Given the description of an element on the screen output the (x, y) to click on. 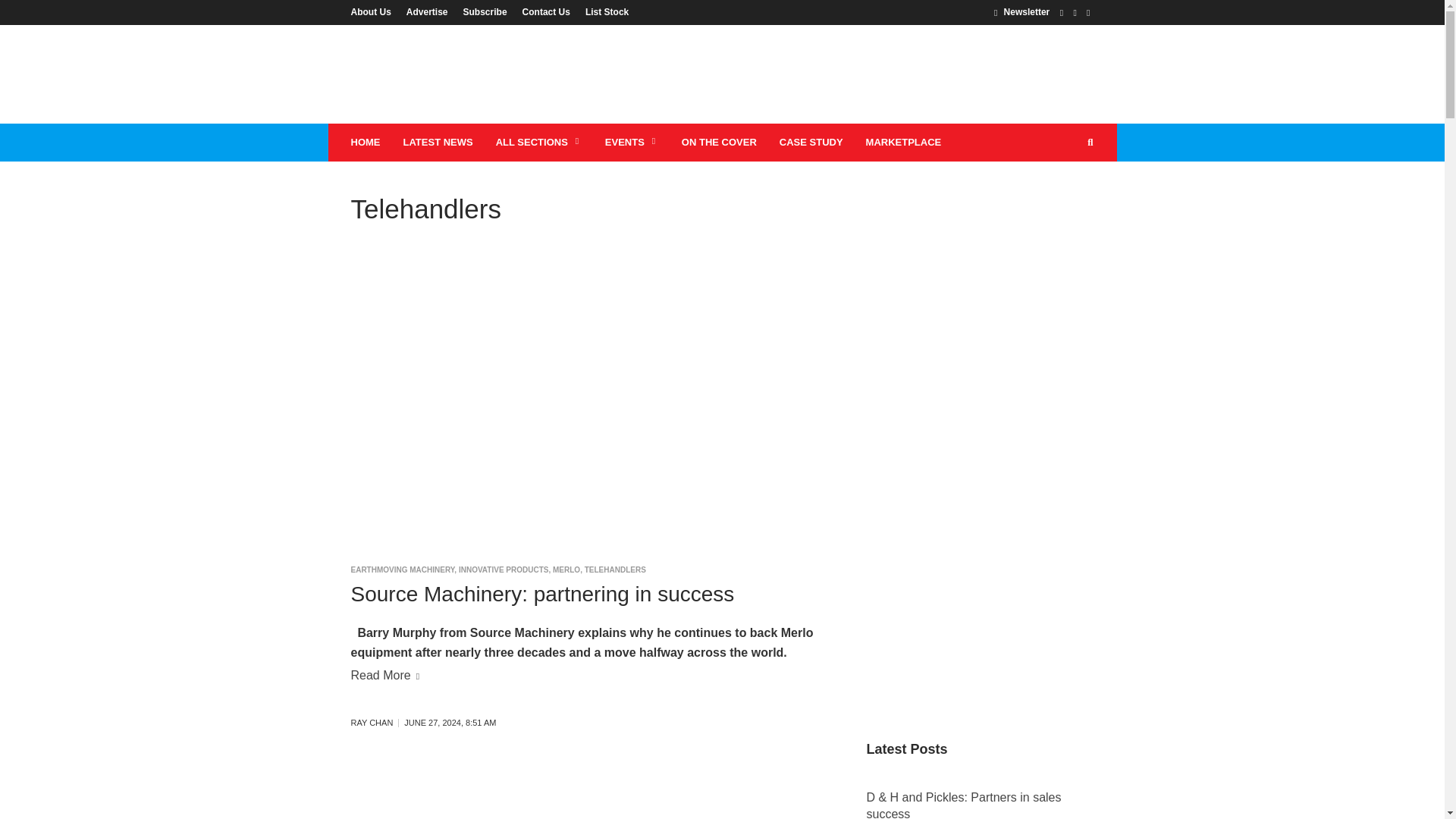
Subscribe (485, 11)
Newsletter (1021, 11)
View Source Machinery: partnering in success (541, 594)
View all posts by Ray Chan (374, 723)
List Stock (603, 11)
HOME (365, 142)
LATEST NEWS (437, 142)
About Us (373, 11)
Contact Us (546, 11)
Advertise (426, 11)
ALL SECTIONS (539, 142)
